Given the description of an element on the screen output the (x, y) to click on. 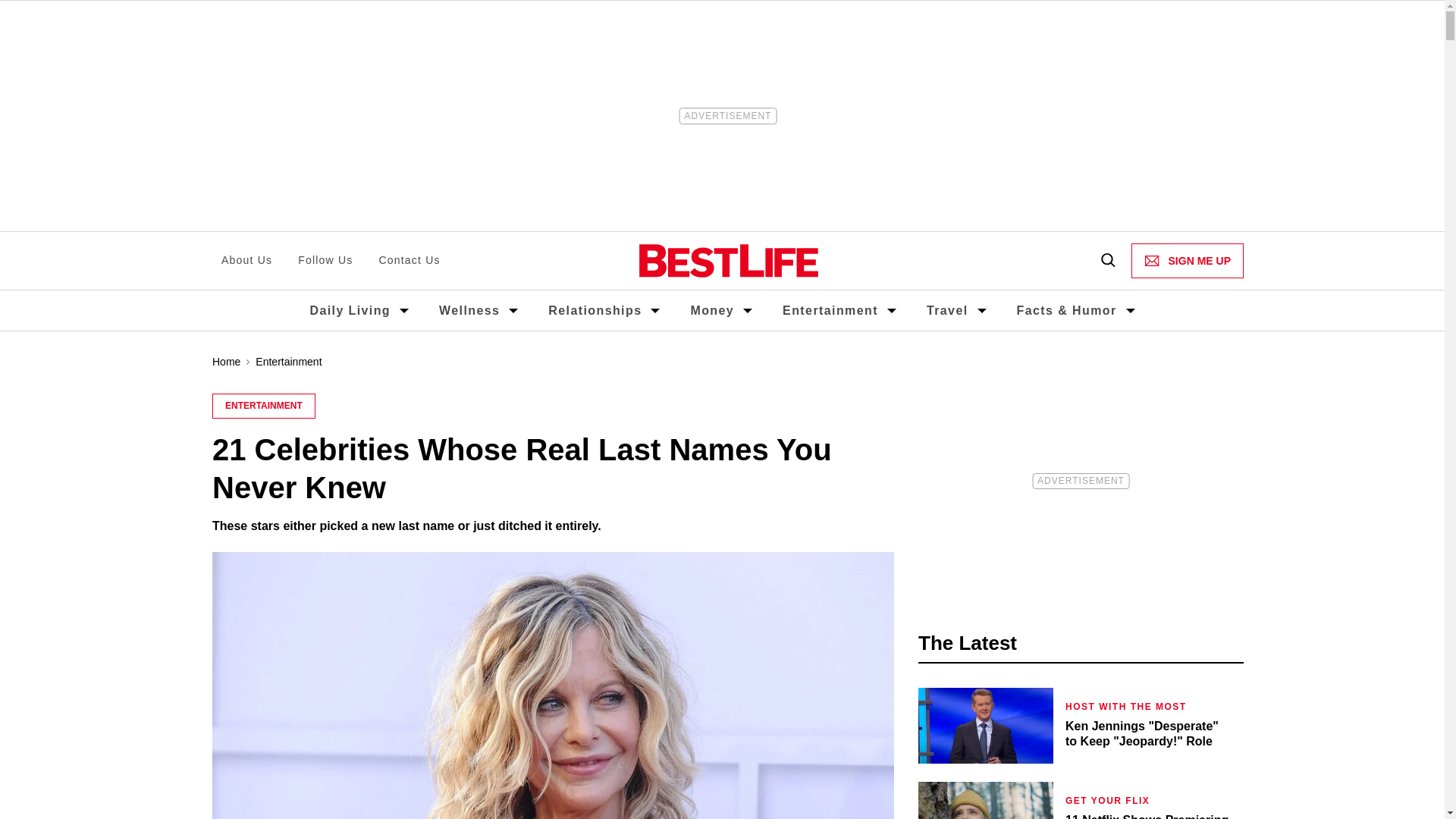
Follow Us (324, 260)
Wellness (469, 309)
About Us (246, 260)
Open Search (1106, 260)
Open Search (1106, 260)
Relationships (595, 309)
Daily Living (349, 309)
Entertainment (830, 309)
Travel (947, 309)
Contact Us (408, 260)
